Given the description of an element on the screen output the (x, y) to click on. 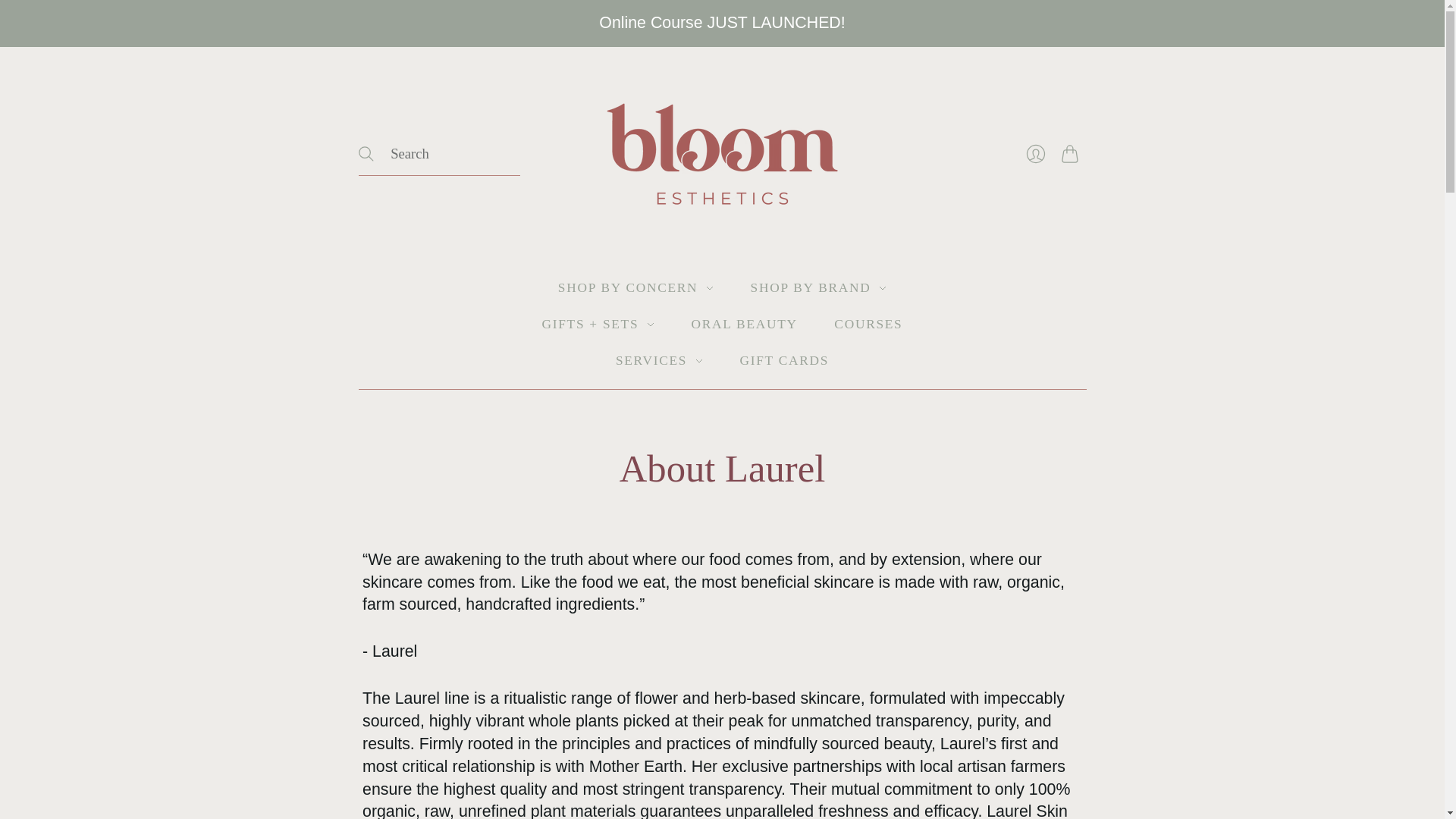
COURSES (868, 324)
Login (1034, 153)
ORAL BEAUTY (744, 324)
Cart (1073, 153)
